Given the description of an element on the screen output the (x, y) to click on. 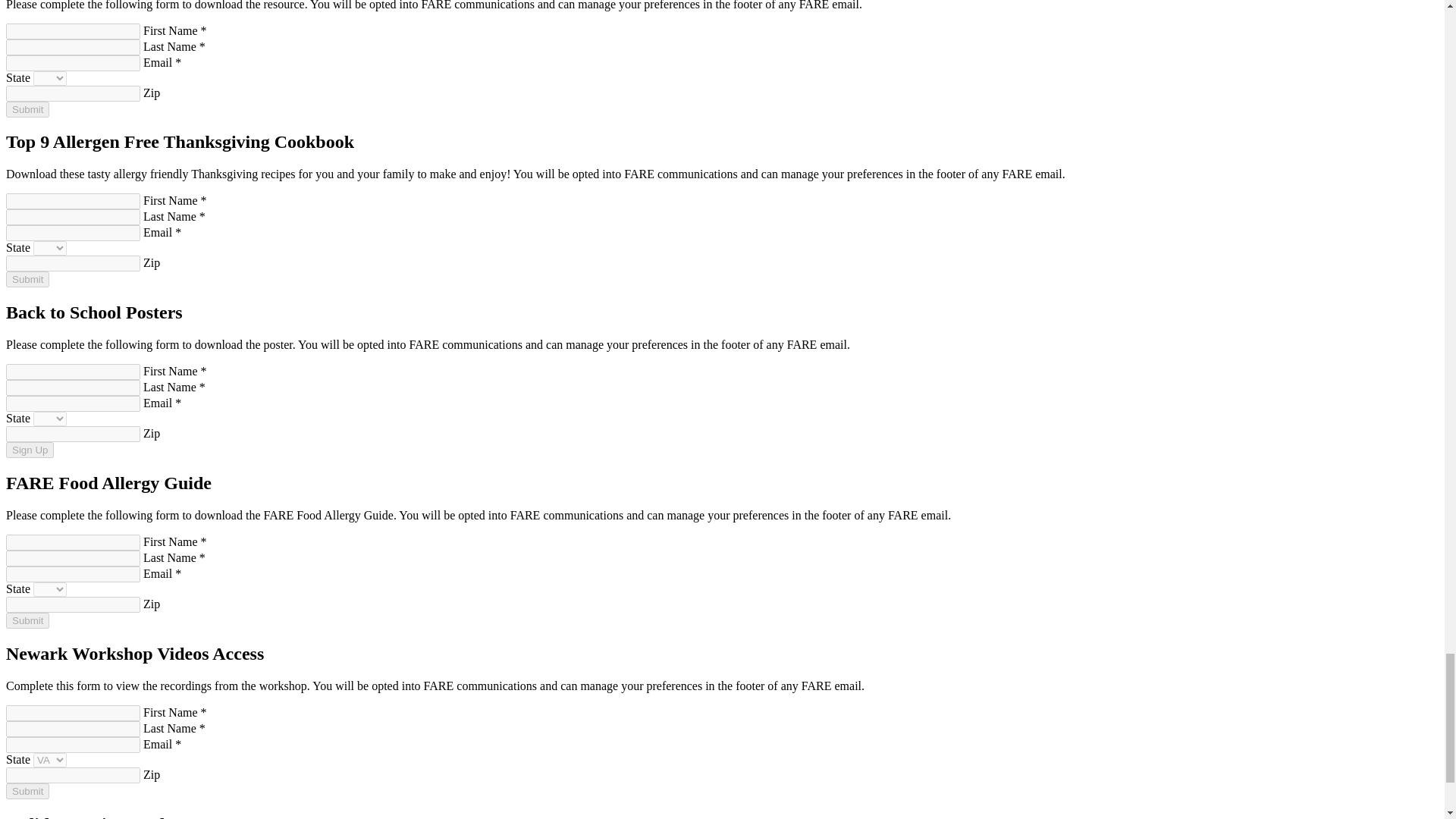
Sign Up (29, 449)
Submit (27, 109)
Submit (27, 279)
